Given the description of an element on the screen output the (x, y) to click on. 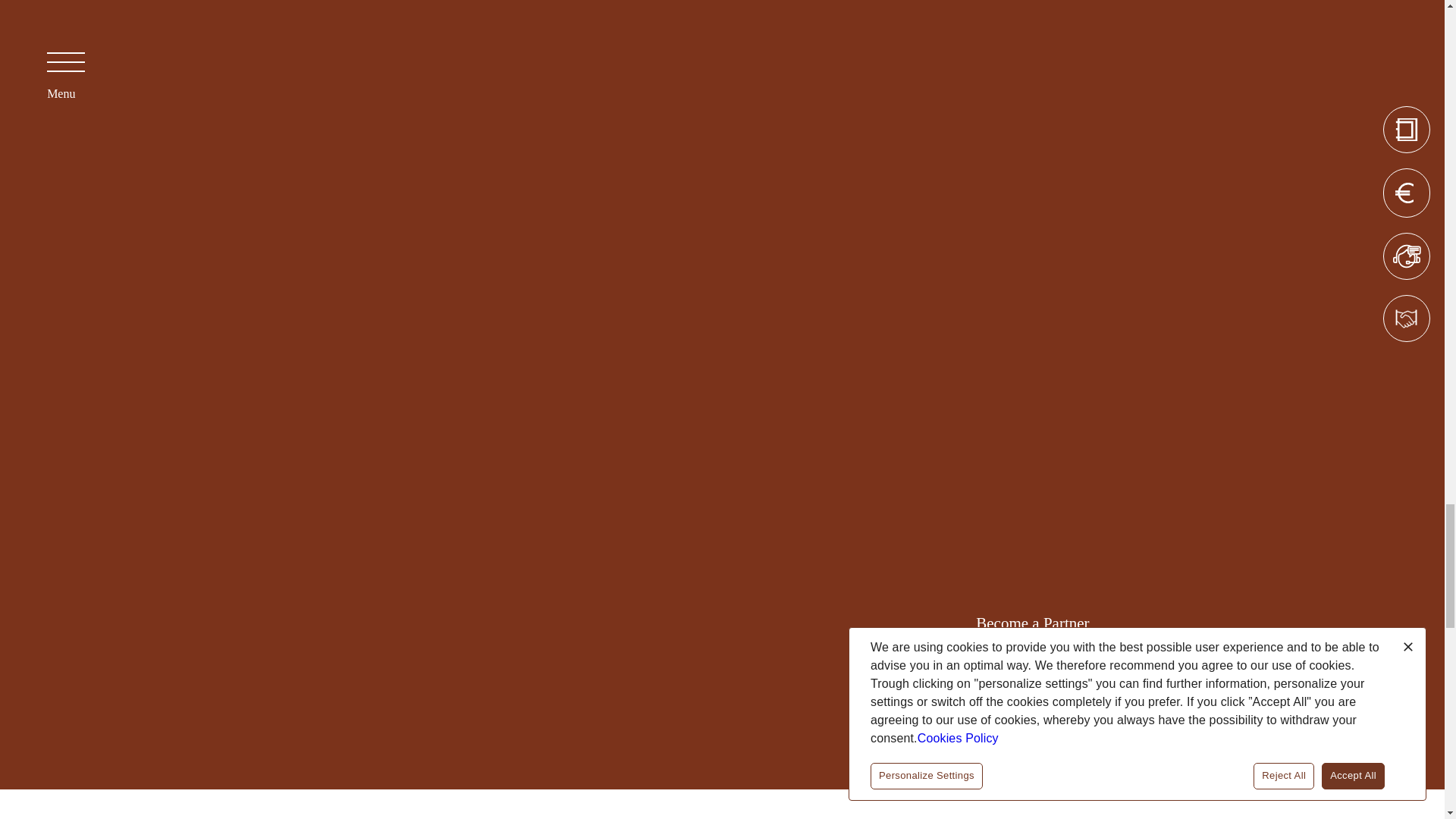
Become a Partner (1032, 623)
